Given the description of an element on the screen output the (x, y) to click on. 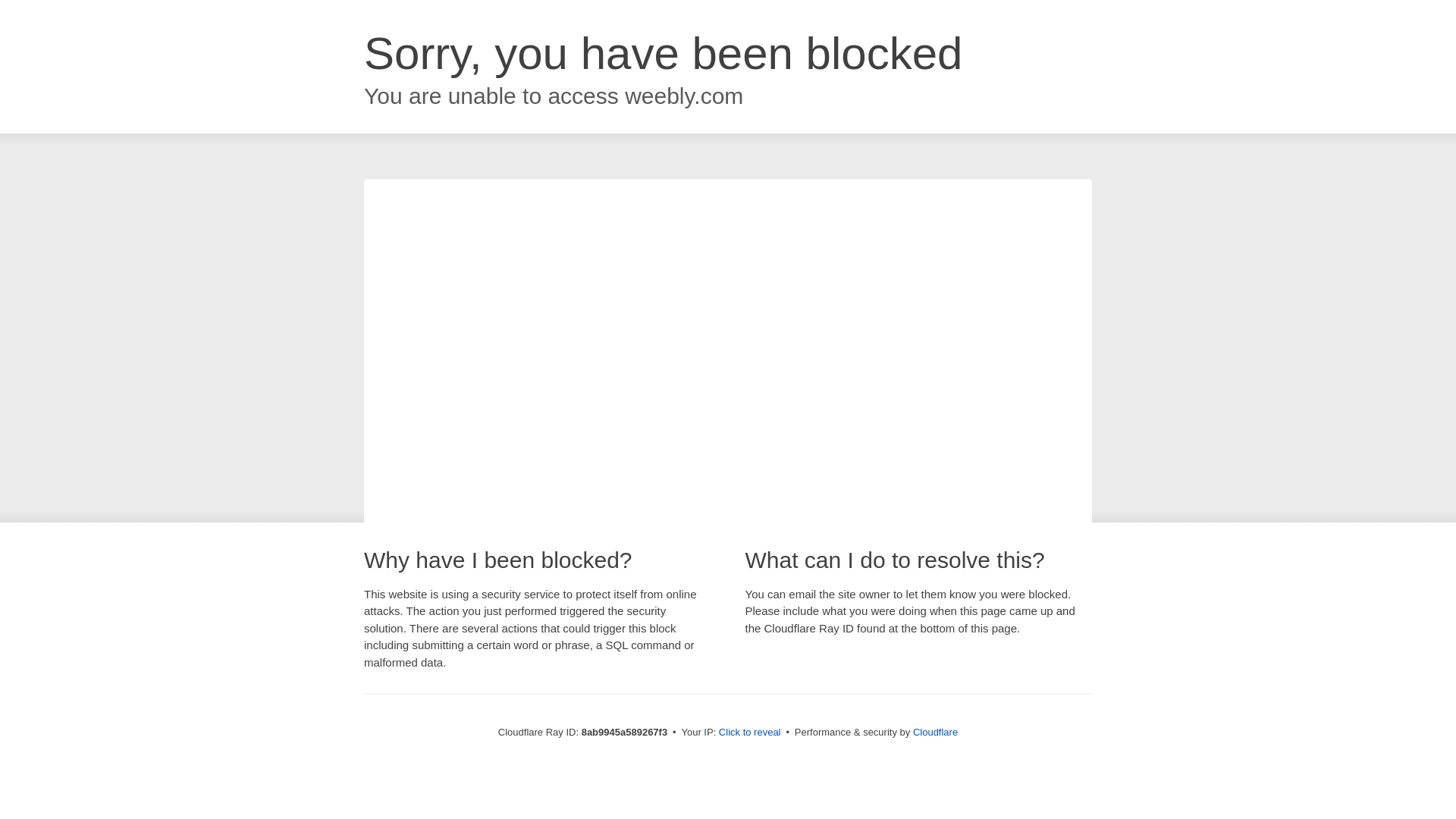
Cloudflare (935, 731)
Click to reveal (749, 732)
